Given the description of an element on the screen output the (x, y) to click on. 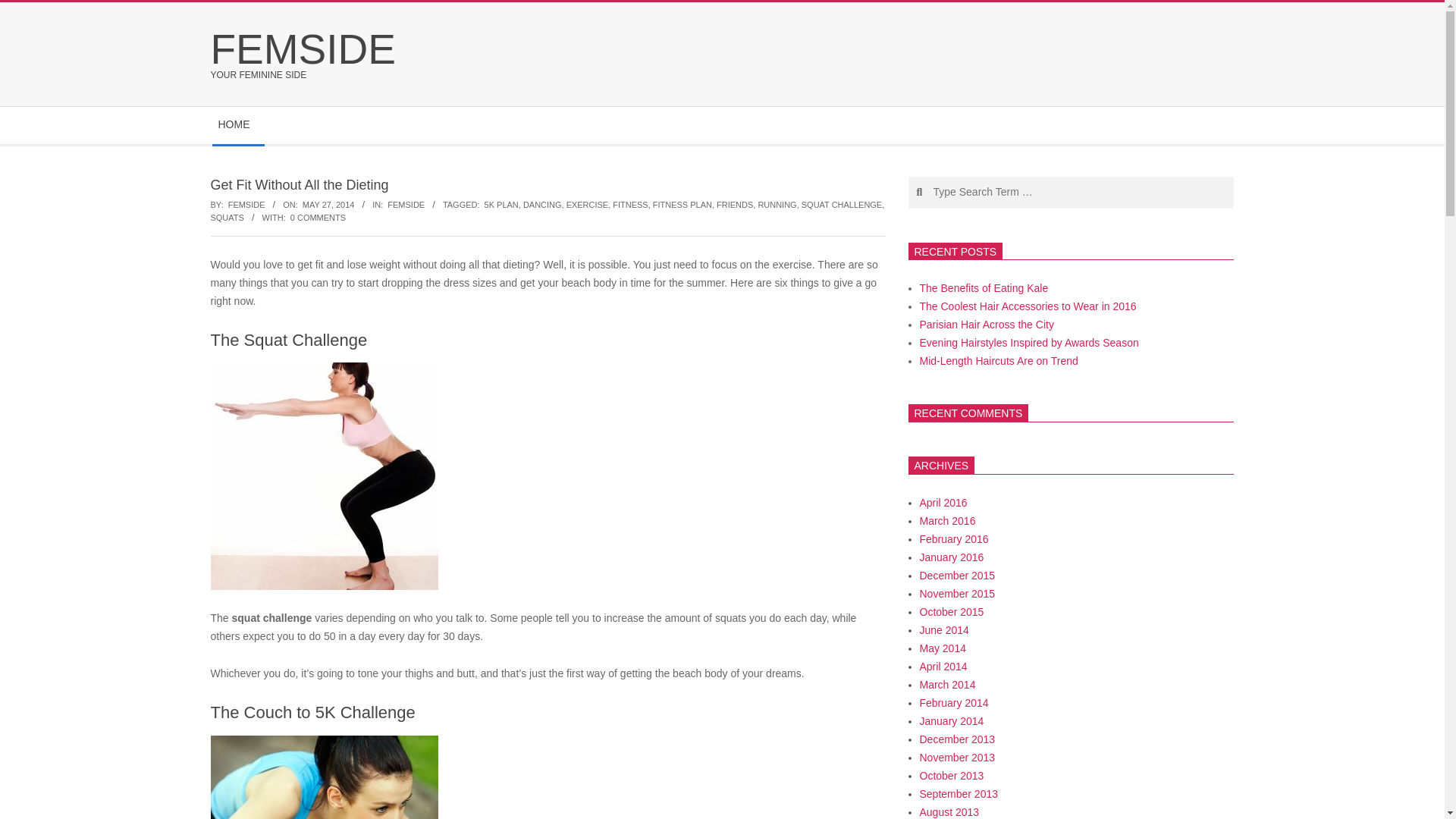
March 2014 (946, 684)
November 2015 (956, 593)
Tuesday, May 27, 2014, 6:27 am (328, 204)
SQUATS (227, 216)
January 2014 (951, 720)
Posts by FemSide (246, 204)
5K PLAN (501, 204)
June 2014 (943, 630)
EXERCISE (587, 204)
0 COMMENTS (317, 216)
April 2014 (942, 666)
January 2016 (951, 557)
February 2014 (953, 702)
The Benefits of Eating Kale (983, 287)
April 2016 (942, 502)
